Given the description of an element on the screen output the (x, y) to click on. 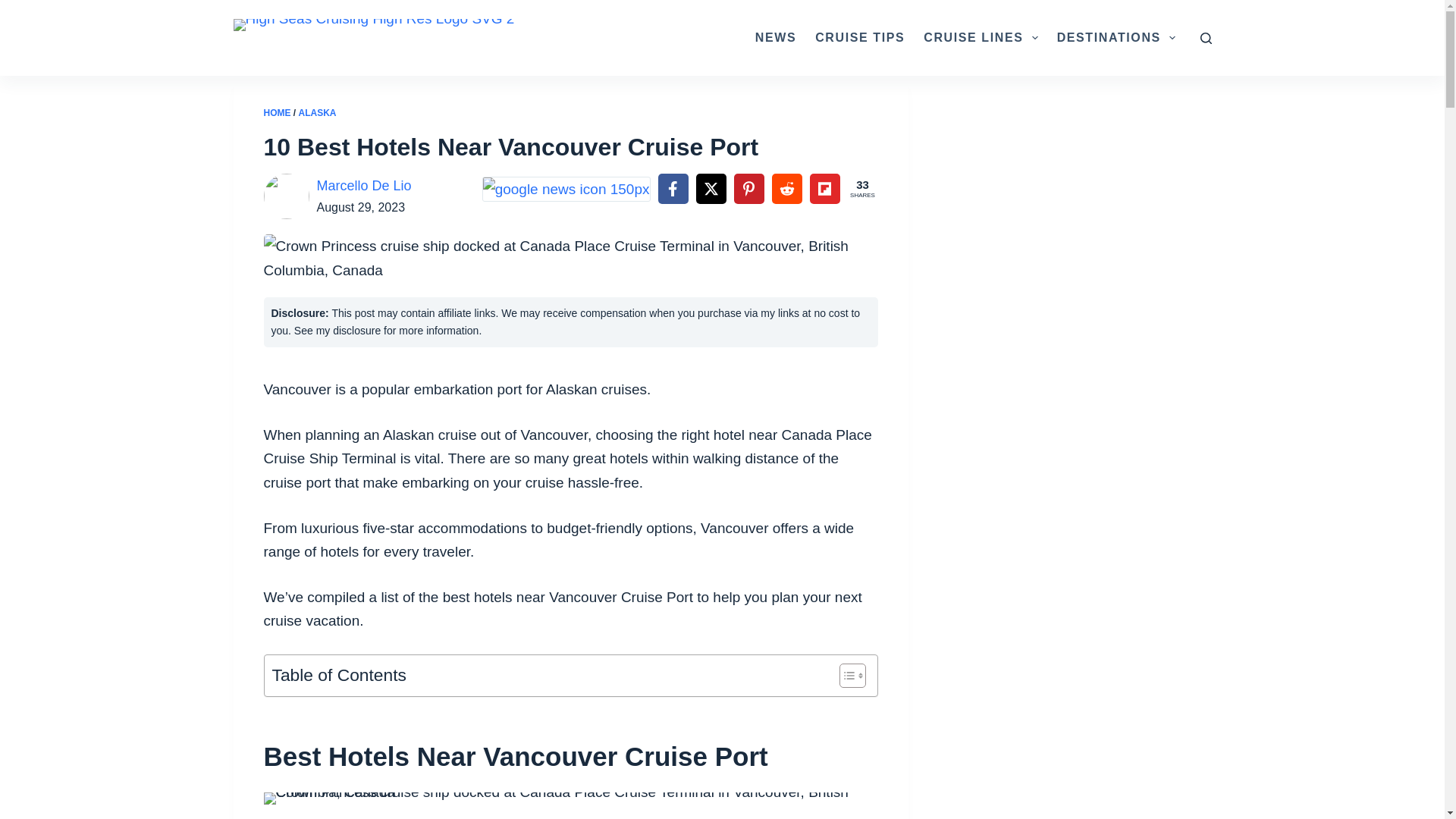
DESTINATIONS (1115, 38)
ALASKA (317, 112)
HOME (277, 112)
google-news-icon 150px (565, 188)
CRUISE TIPS (860, 38)
CRUISE LINES (980, 38)
Skip to content (15, 7)
Marcello De Lio (364, 185)
